Given the description of an element on the screen output the (x, y) to click on. 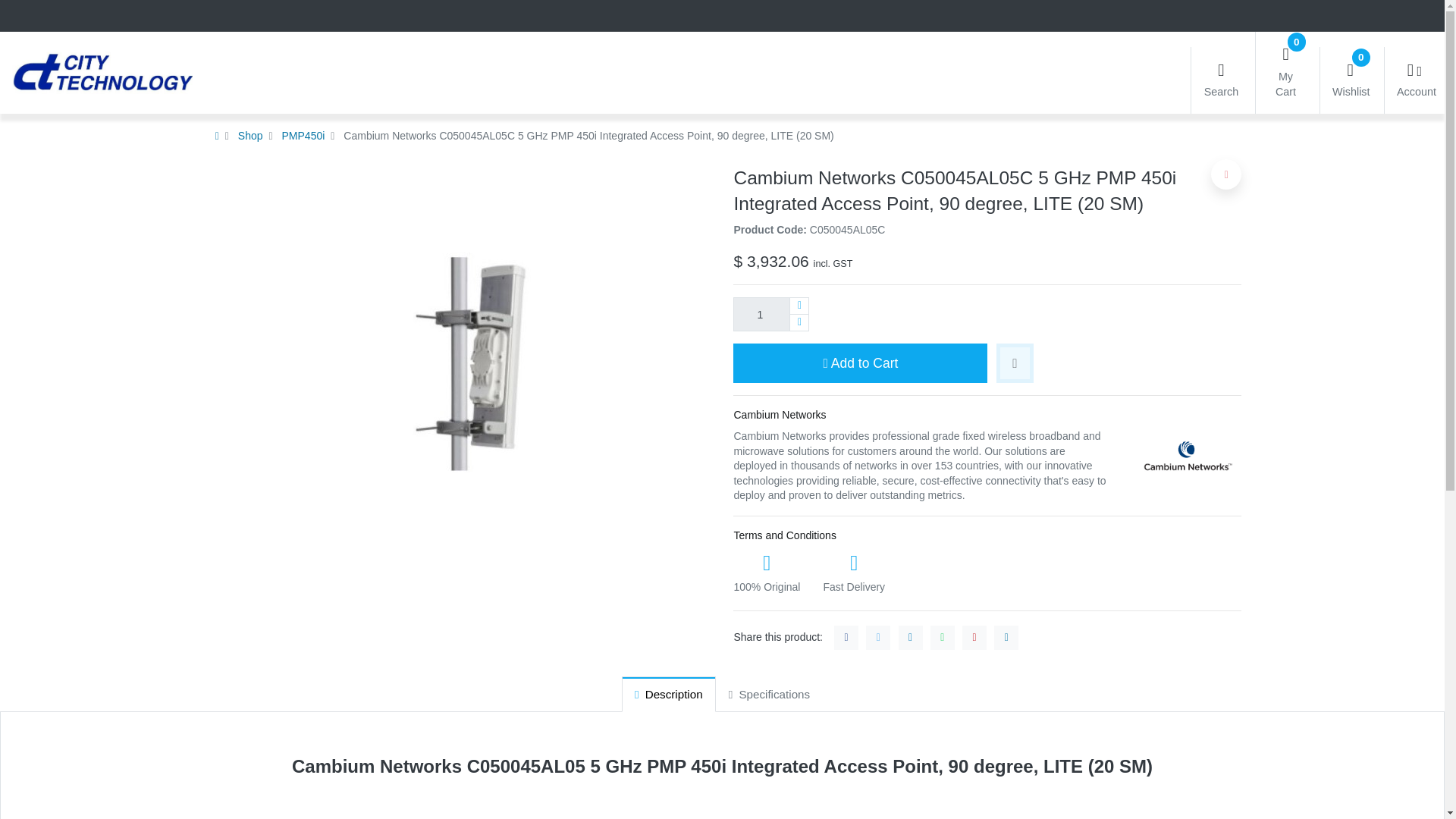
City Technology (96, 72)
1 (771, 314)
